Given the description of an element on the screen output the (x, y) to click on. 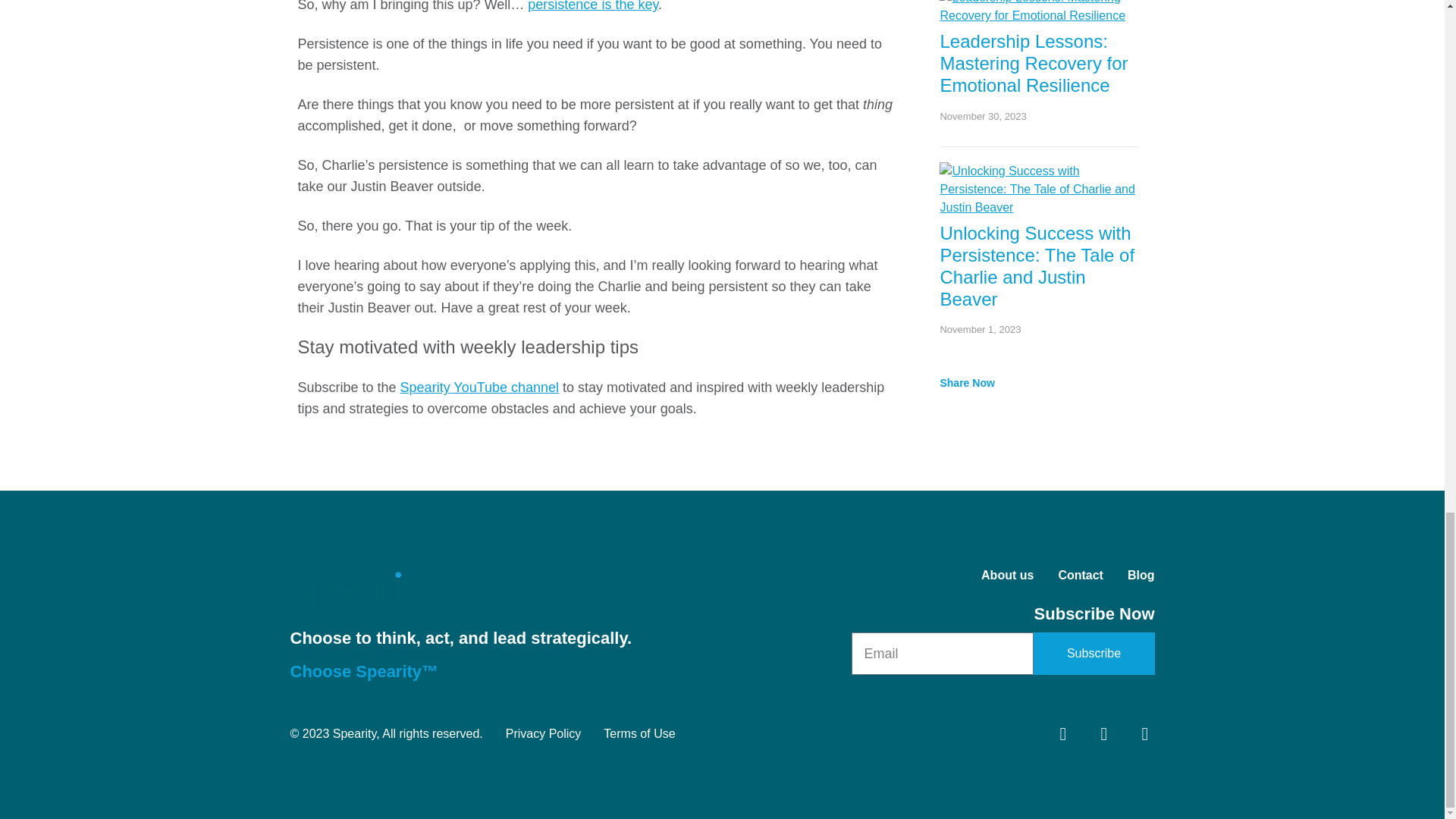
persistence is the key (592, 6)
Spearity YouTube channel (479, 387)
